Given the description of an element on the screen output the (x, y) to click on. 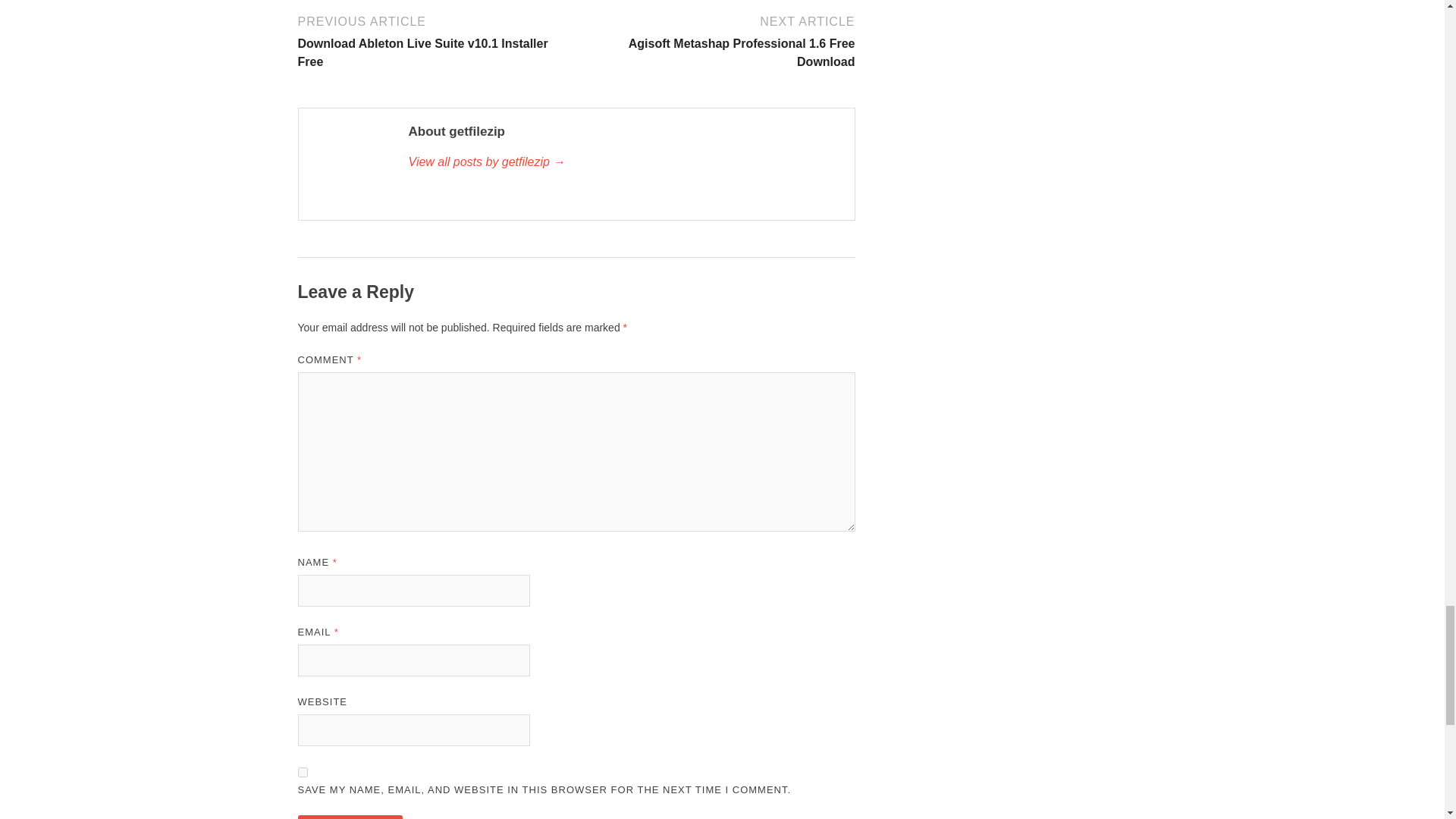
yes (302, 772)
Post Comment (349, 816)
getfilezip (622, 162)
